Given the description of an element on the screen output the (x, y) to click on. 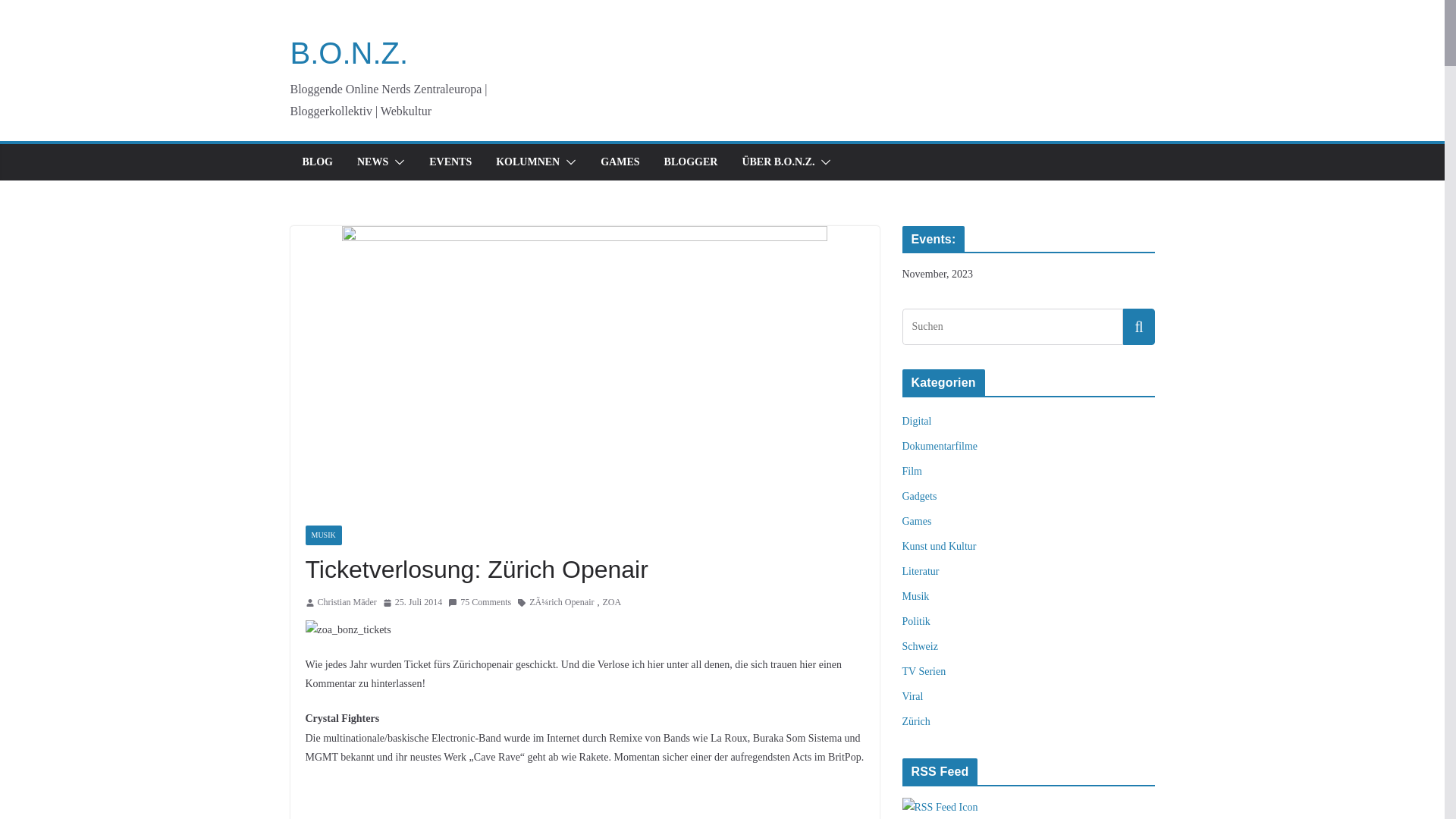
Digital Element type: text (916, 420)
Kunst und Kultur Element type: text (939, 546)
ZOA Element type: text (611, 602)
B.O.N.Z. Element type: text (348, 52)
EVENTS Element type: text (450, 161)
Schweiz Element type: text (920, 646)
25. Juli 2014 Element type: text (412, 602)
MUSIK Element type: text (322, 535)
BLOG Element type: text (316, 161)
Viral Element type: text (912, 696)
RSS Feed Element type: hover (940, 806)
75 Comments Element type: text (479, 602)
Dokumentarfilme Element type: text (940, 445)
Gadgets Element type: text (919, 496)
Film Element type: text (912, 470)
BLOGGER Element type: text (691, 161)
TV Serien Element type: text (924, 671)
GAMES Element type: text (619, 161)
NEWS Element type: text (372, 161)
Politik Element type: text (916, 621)
KOLUMNEN Element type: text (527, 161)
Musik Element type: text (915, 596)
Literatur Element type: text (920, 571)
Games Element type: text (916, 521)
